Given the description of an element on the screen output the (x, y) to click on. 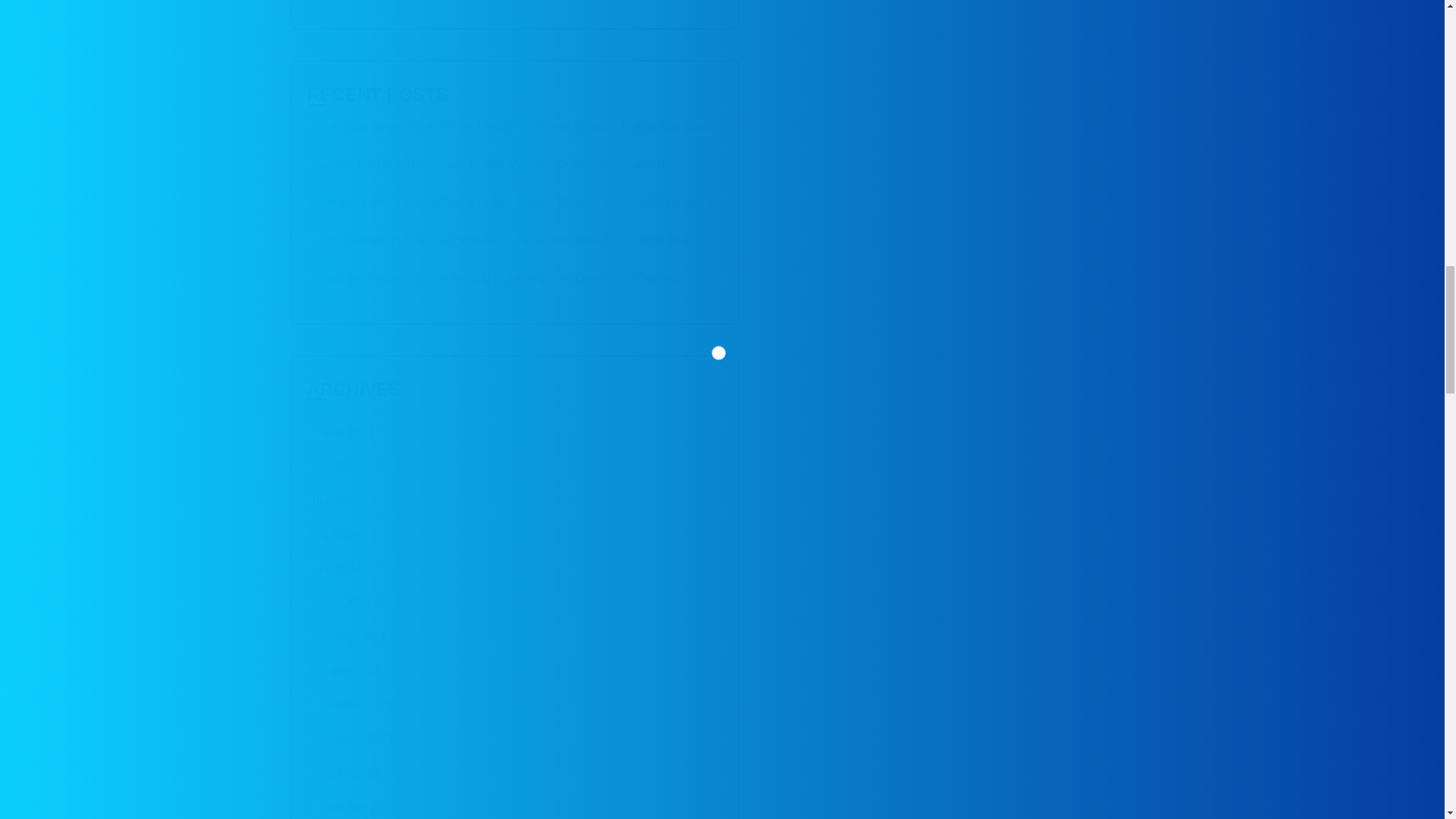
October 2023 (342, 773)
March 2024 (338, 602)
September 2023 (350, 805)
November 2023 (349, 738)
July 2024 (331, 466)
June 2024 (333, 500)
August 2024 (339, 431)
April 2024 (333, 568)
December 2023 (349, 704)
